Given the description of an element on the screen output the (x, y) to click on. 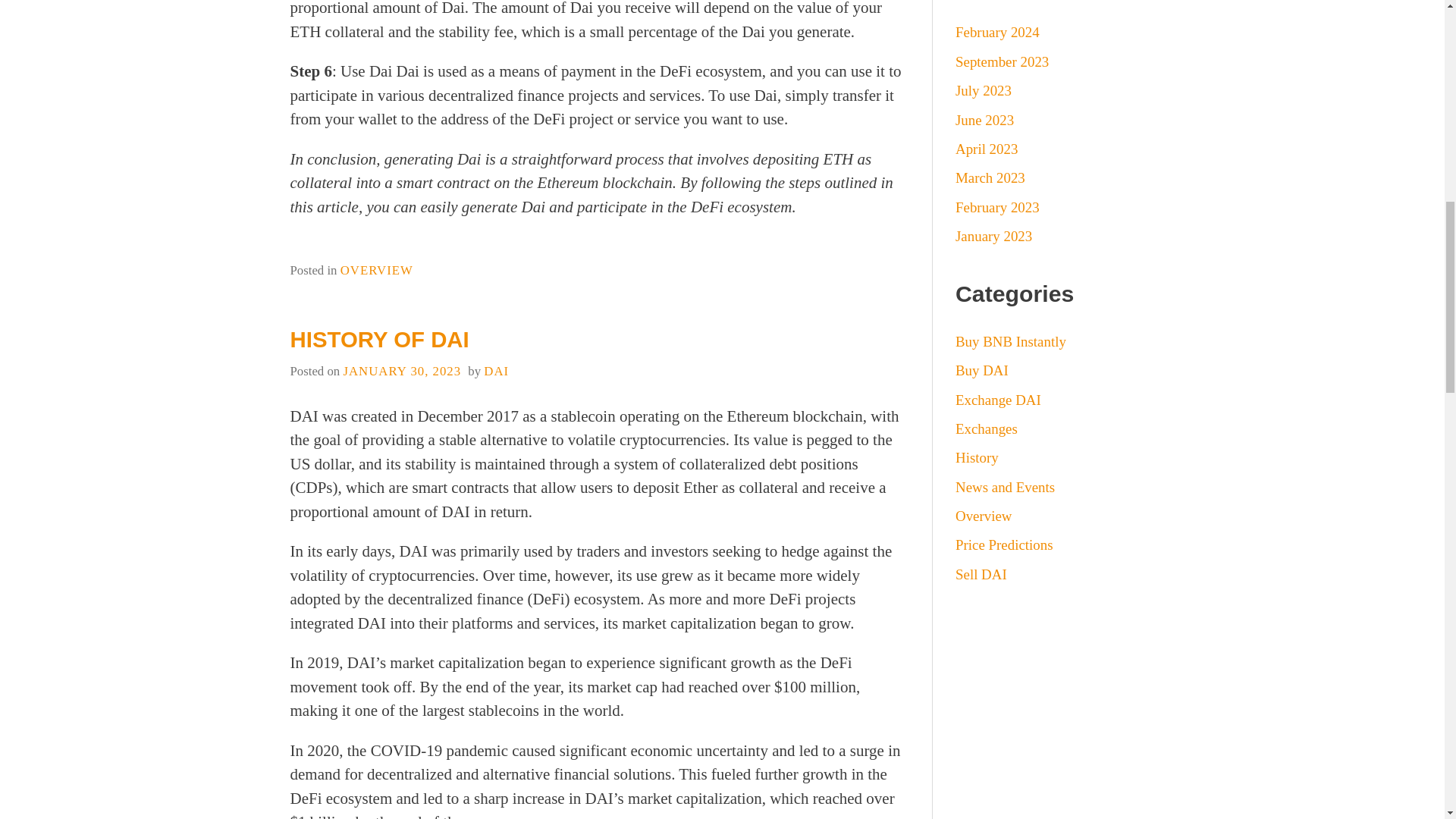
Buy BNB Instantly (1010, 341)
June 2023 (984, 119)
JANUARY 30, 2023 (401, 370)
HISTORY OF DAI (378, 339)
History (976, 457)
April 2023 (986, 148)
Exchanges (986, 428)
Buy DAI (982, 370)
DAI (495, 370)
July 2023 (983, 90)
